Given the description of an element on the screen output the (x, y) to click on. 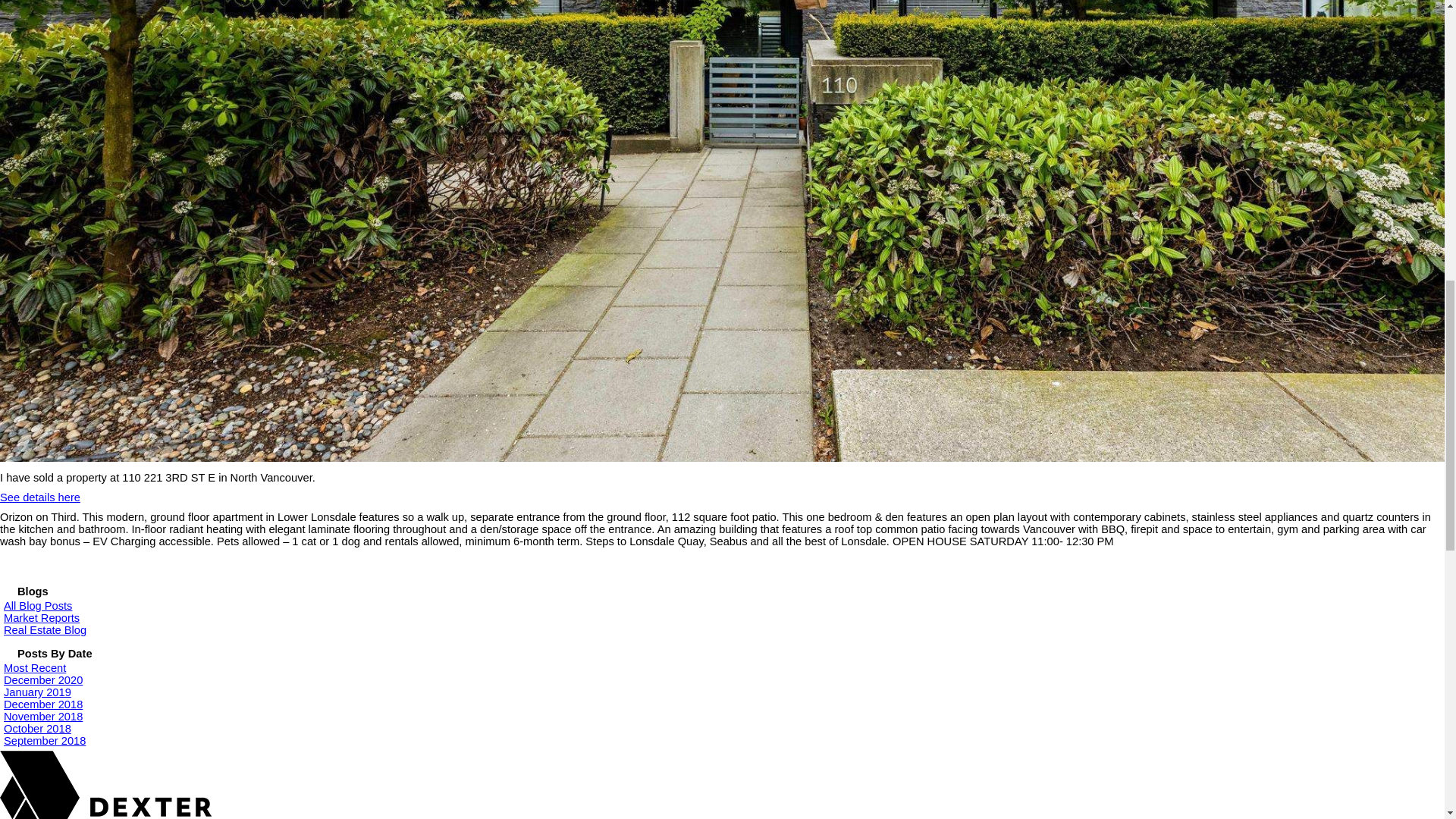
Real Estate Blog (44, 630)
December 2020 (43, 680)
January 2019 (37, 692)
Market Reports (42, 617)
All Blog Posts (37, 605)
Most Recent (34, 667)
See details here (40, 497)
December 2018 (43, 704)
